Given the description of an element on the screen output the (x, y) to click on. 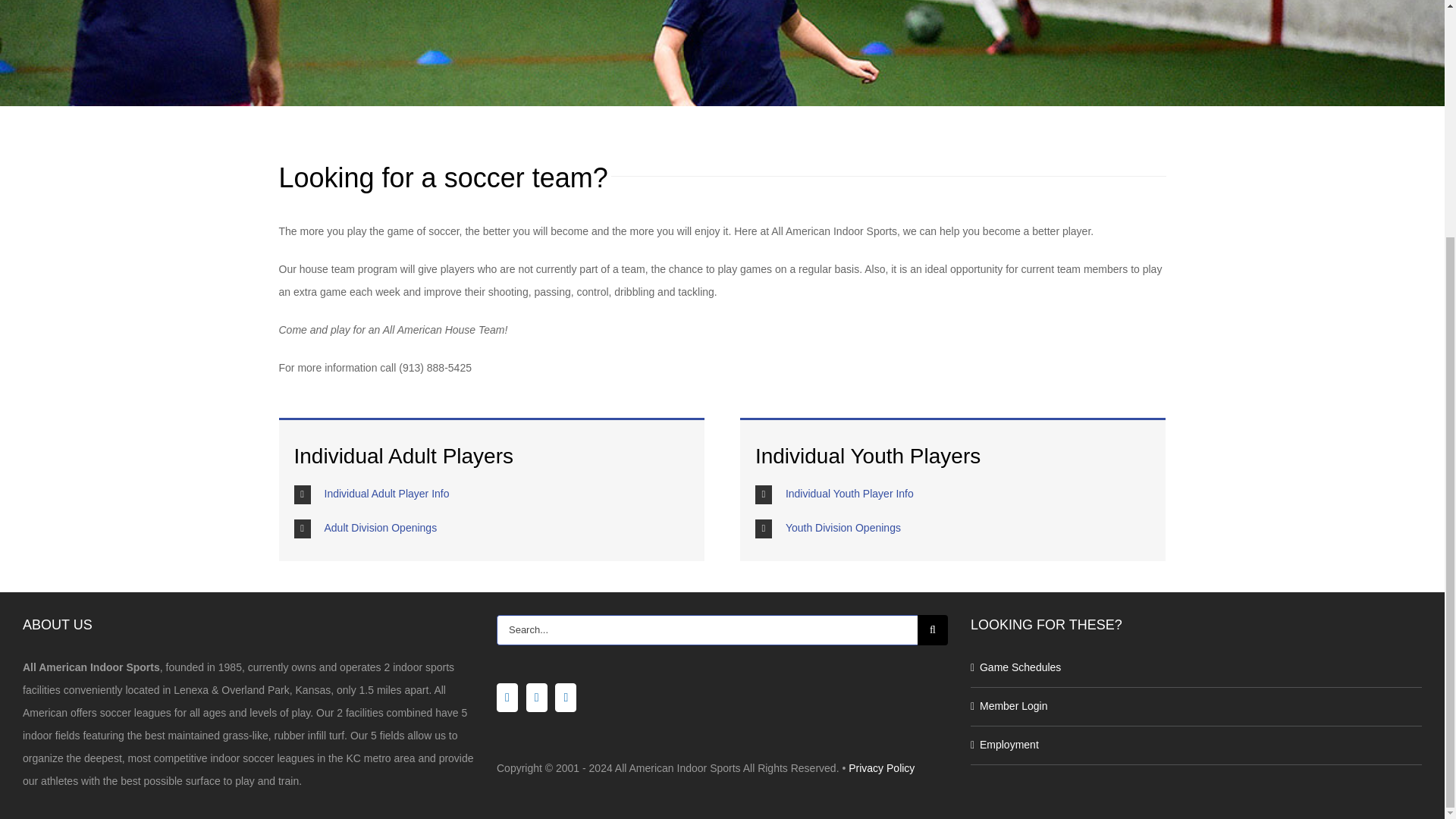
LinkedIn (565, 697)
Facebook (507, 697)
Instagram (536, 697)
